Given the description of an element on the screen output the (x, y) to click on. 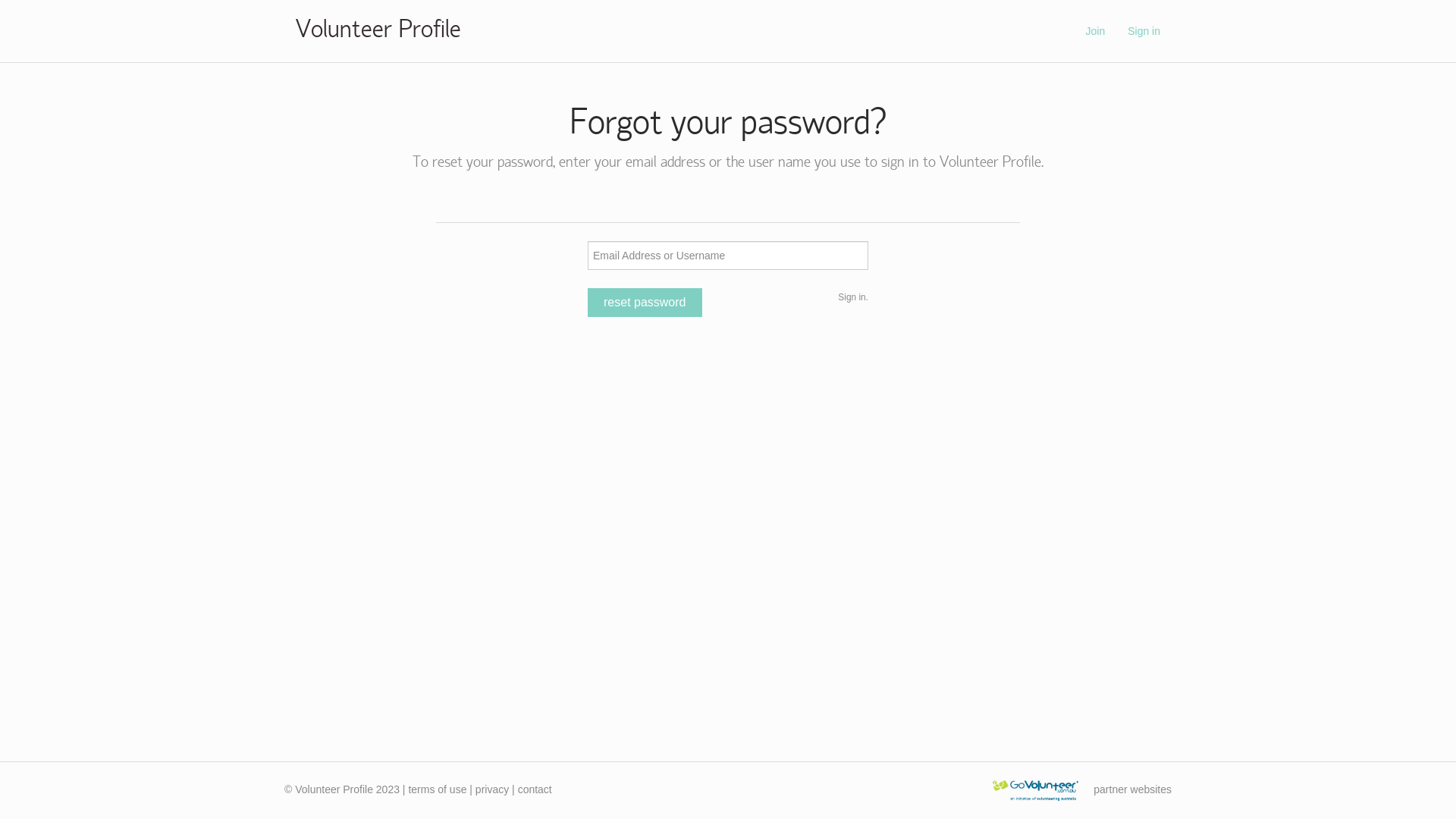
Sign in. Element type: text (852, 296)
privacy Element type: text (491, 789)
terms of use Element type: text (436, 789)
Volunteer Profile Element type: text (378, 31)
Reset password Element type: text (644, 302)
contact Element type: text (534, 789)
Join Element type: text (1094, 31)
Sign in Element type: text (1143, 31)
partner websites Element type: text (1132, 789)
